Given the description of an element on the screen output the (x, y) to click on. 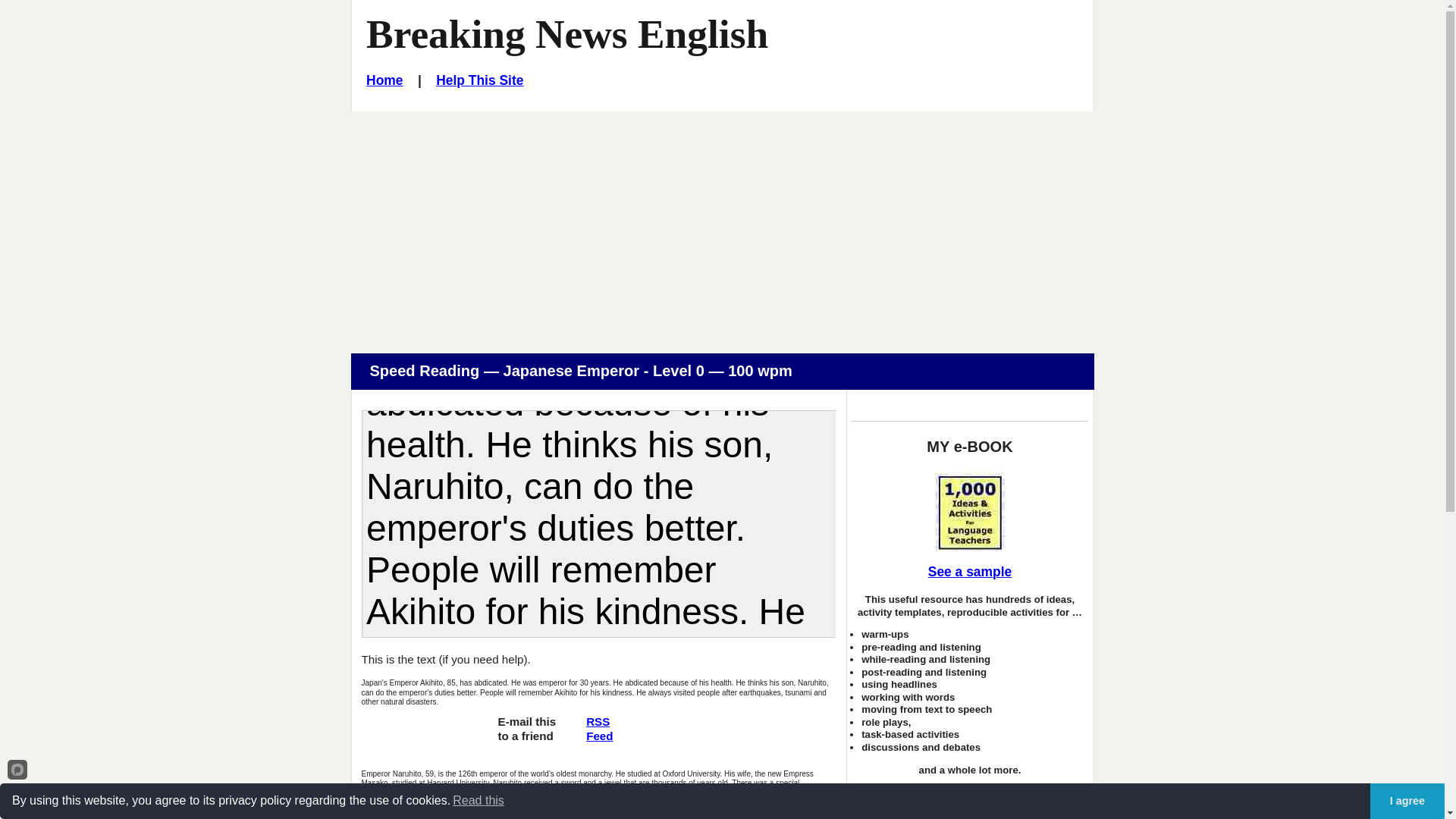
See a sample (969, 572)
... to a friend, student, colleague... (526, 735)
Breaking News English (567, 33)
Subscribe to my feed (526, 735)
Home (599, 728)
Japanese emperor lesson (384, 79)
Advertisement (488, 814)
Help This Site (599, 728)
